Given the description of an element on the screen output the (x, y) to click on. 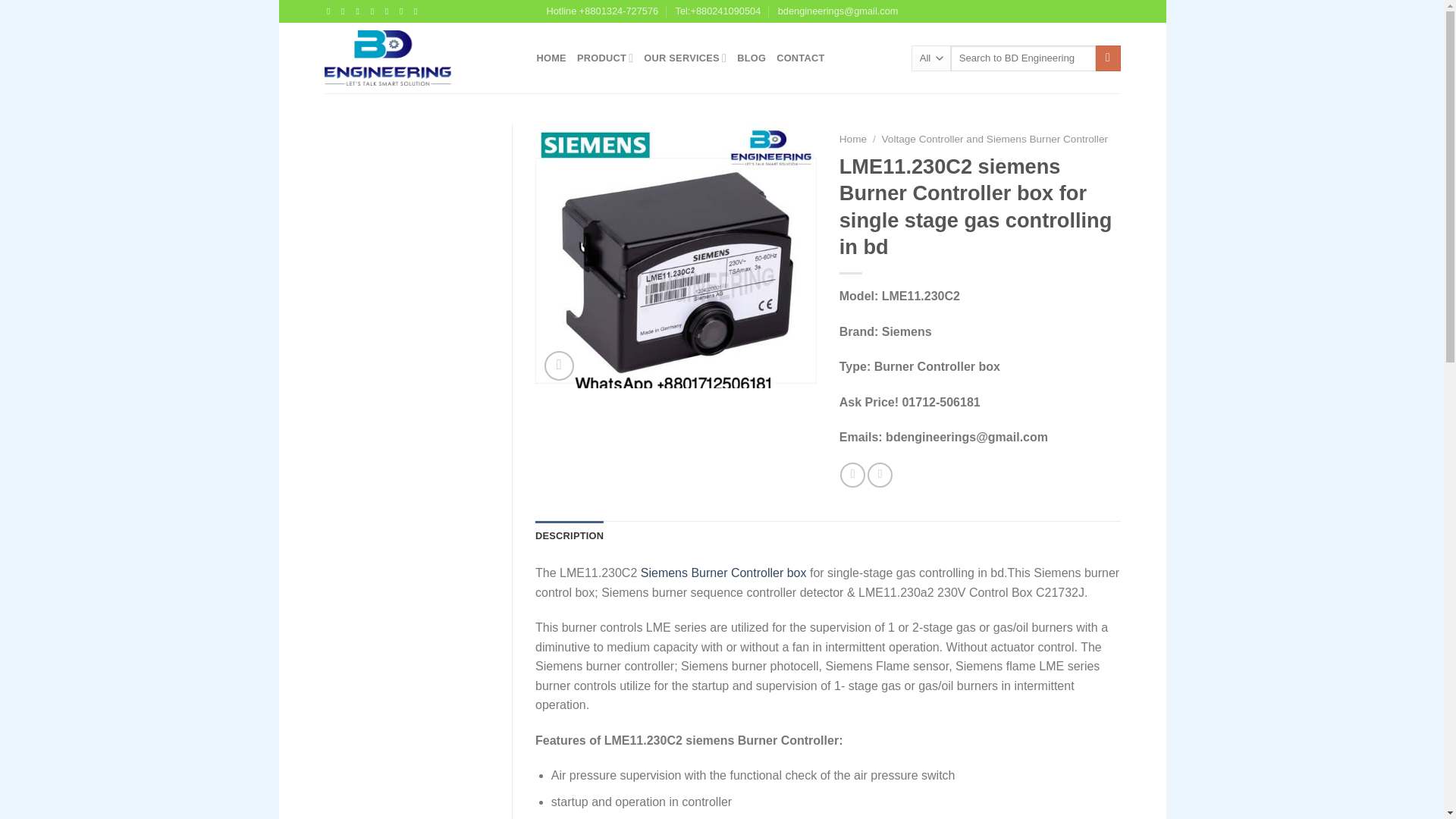
HOME (551, 58)
Share on Facebook (852, 474)
Zoom (558, 365)
PRODUCT (604, 58)
